Given the description of an element on the screen output the (x, y) to click on. 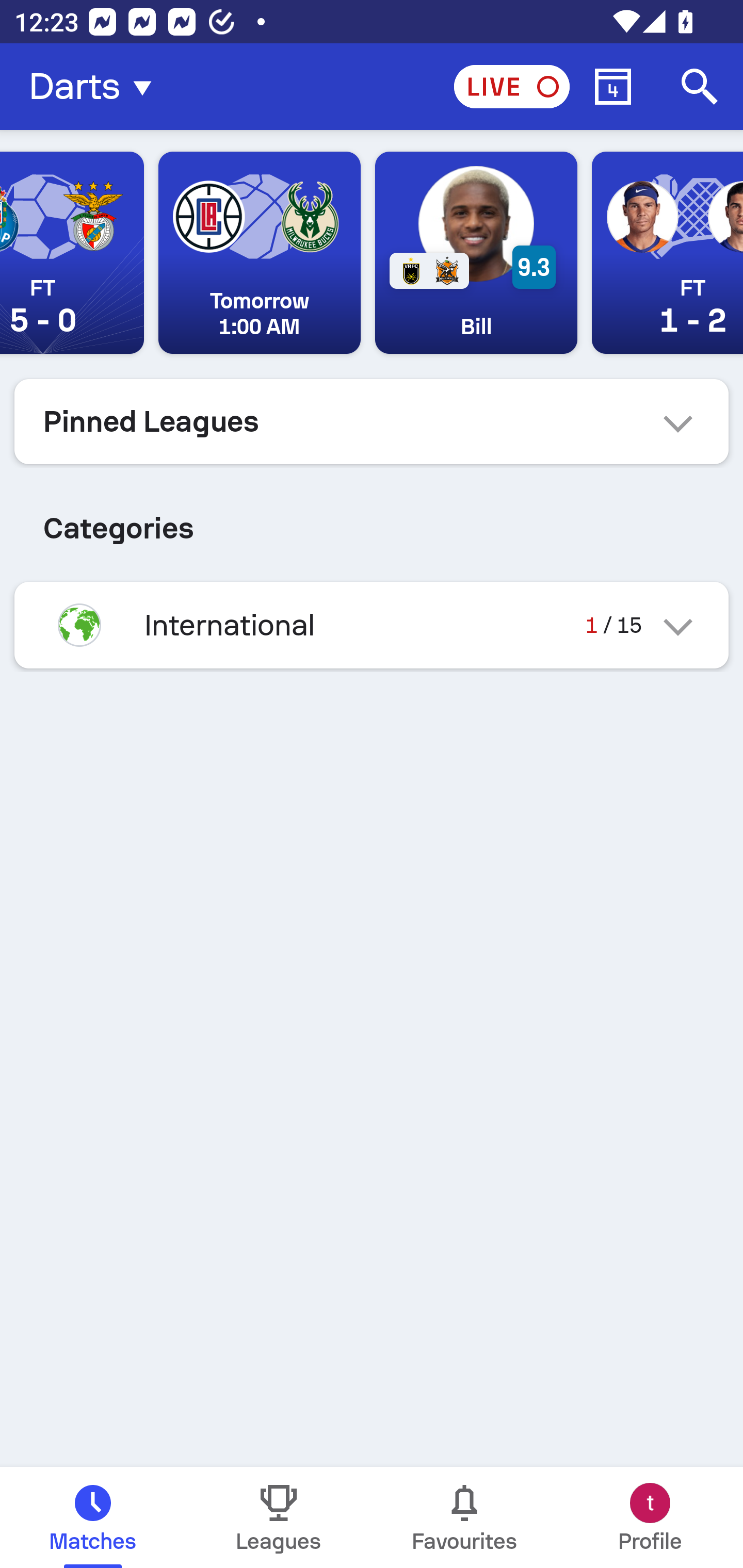
Darts (96, 86)
Calendar (612, 86)
Search (699, 86)
FT 5 - 0 (72, 253)
Tomorrow
1:00 AM (259, 253)
9.3 Bill (476, 253)
FT 1 - 2 (667, 253)
Pinned Leagues (371, 421)
Categories (371, 520)
International 1 / 15 (371, 624)
Leagues (278, 1517)
Favourites (464, 1517)
Profile (650, 1517)
